Given the description of an element on the screen output the (x, y) to click on. 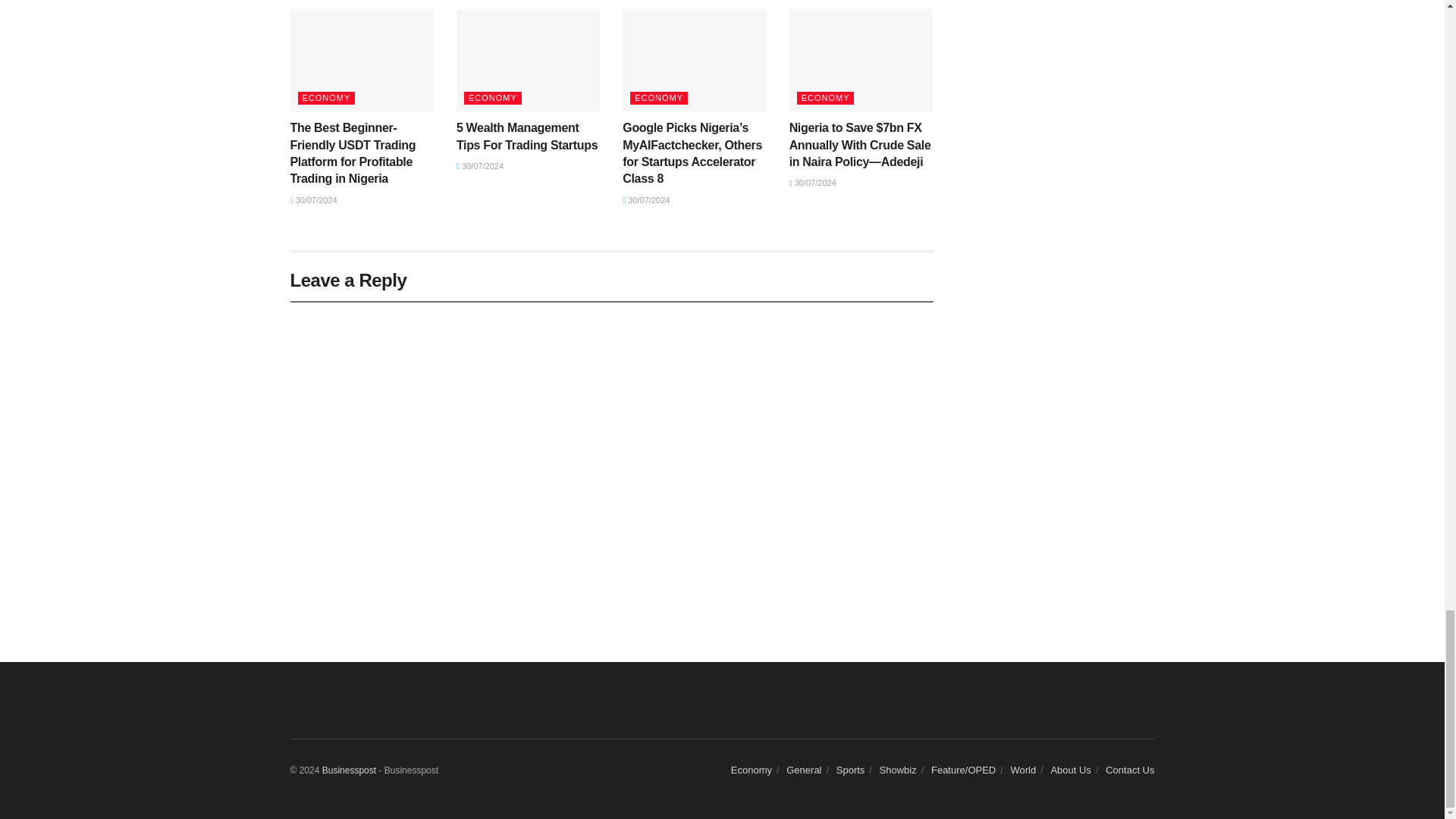
Businesspost (348, 769)
